Given the description of an element on the screen output the (x, y) to click on. 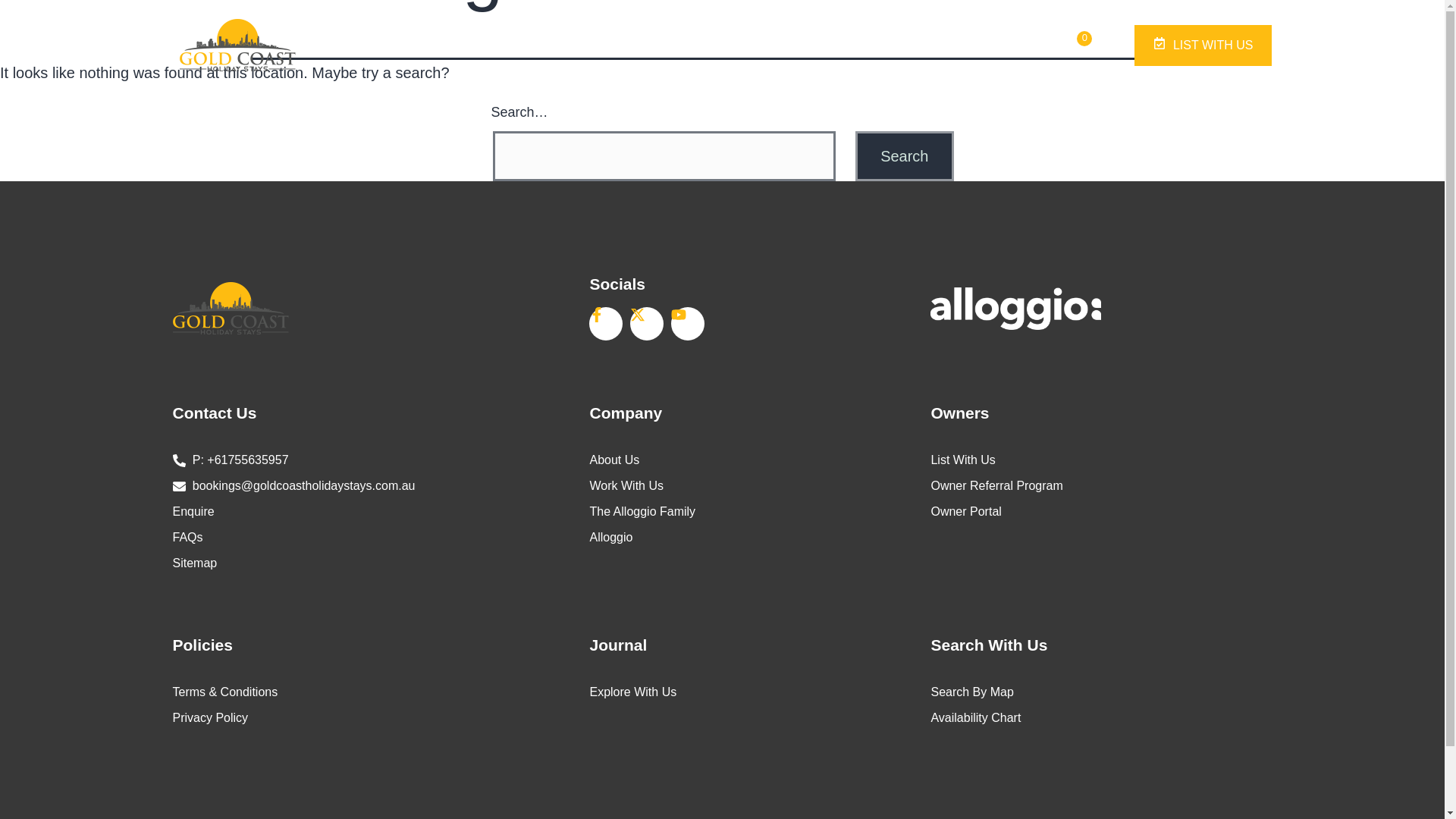
Search (904, 155)
Search (904, 155)
SPECIALS (670, 45)
